Given the description of an element on the screen output the (x, y) to click on. 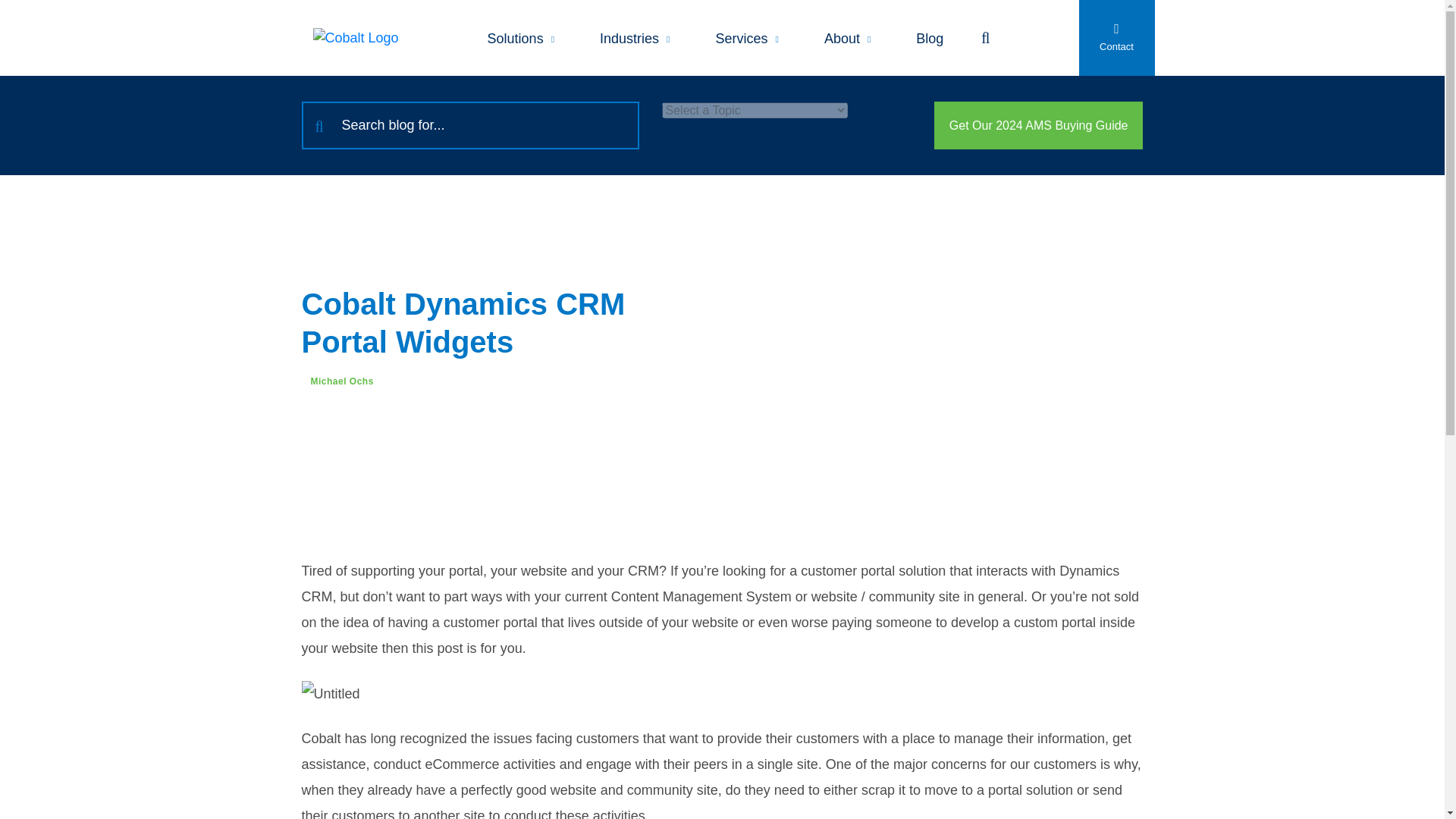
Services (746, 38)
Industries (634, 38)
Solutions (520, 38)
Contact (1116, 38)
About (847, 38)
Go to Home Page (355, 37)
